Given the description of an element on the screen output the (x, y) to click on. 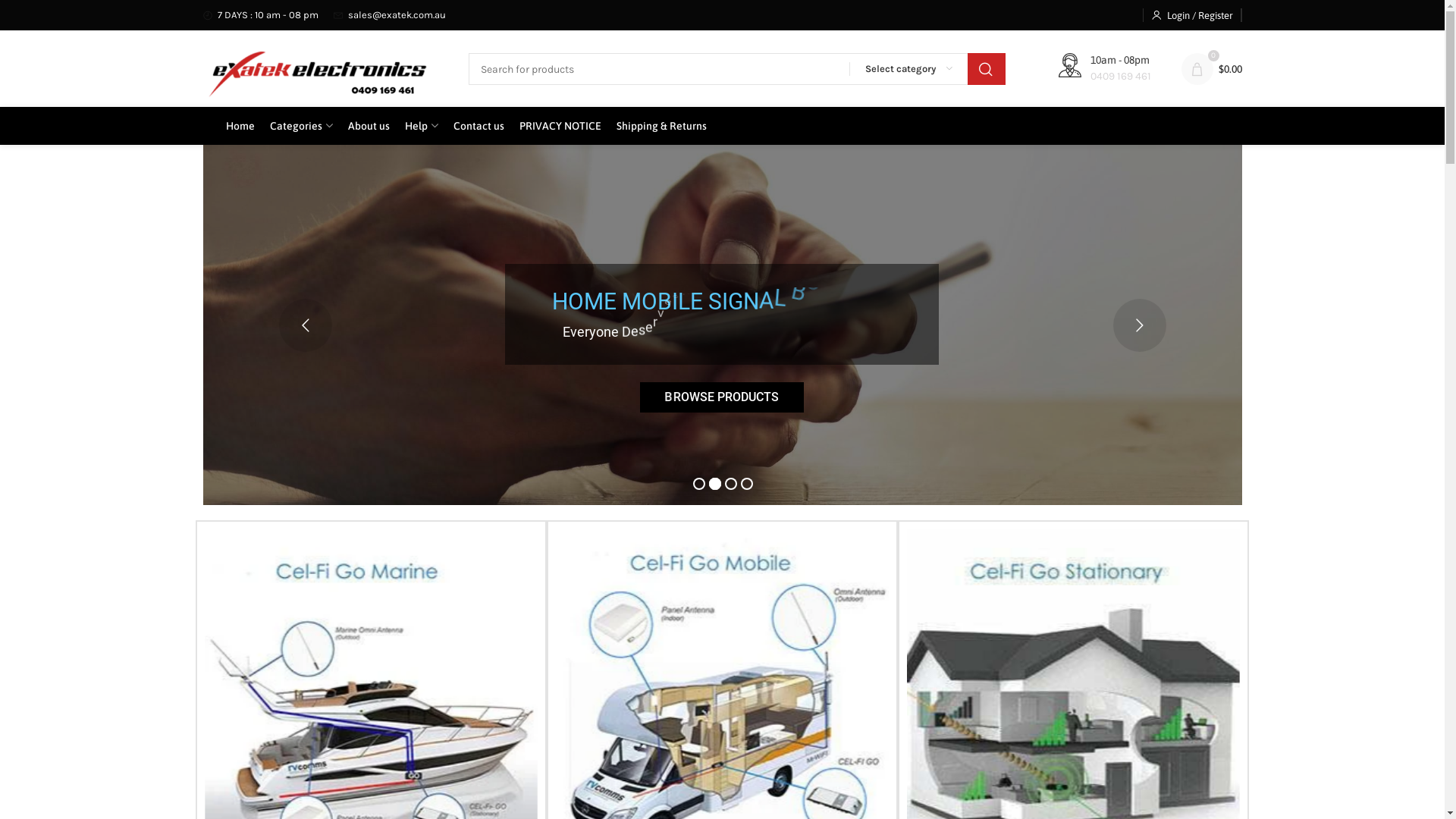
PRIVACY NOTICE Element type: text (559, 125)
sales@exatek.com.au Element type: text (389, 15)
BROWS PRODUCTS Element type: text (721, 397)
Contact us Element type: text (478, 125)
Select category Element type: text (907, 68)
Login / Register Element type: text (1191, 15)
Help Element type: text (421, 125)
About us Element type: text (367, 125)
Shipping & Returns Element type: text (660, 125)
Home Element type: text (240, 125)
10am - 08pm
0409 169 461 Element type: text (1104, 68)
Categories Element type: text (301, 125)
0
$0.00 Element type: text (1211, 68)
7 DAYS : 10 am - 08 pm Element type: text (260, 15)
